Given the description of an element on the screen output the (x, y) to click on. 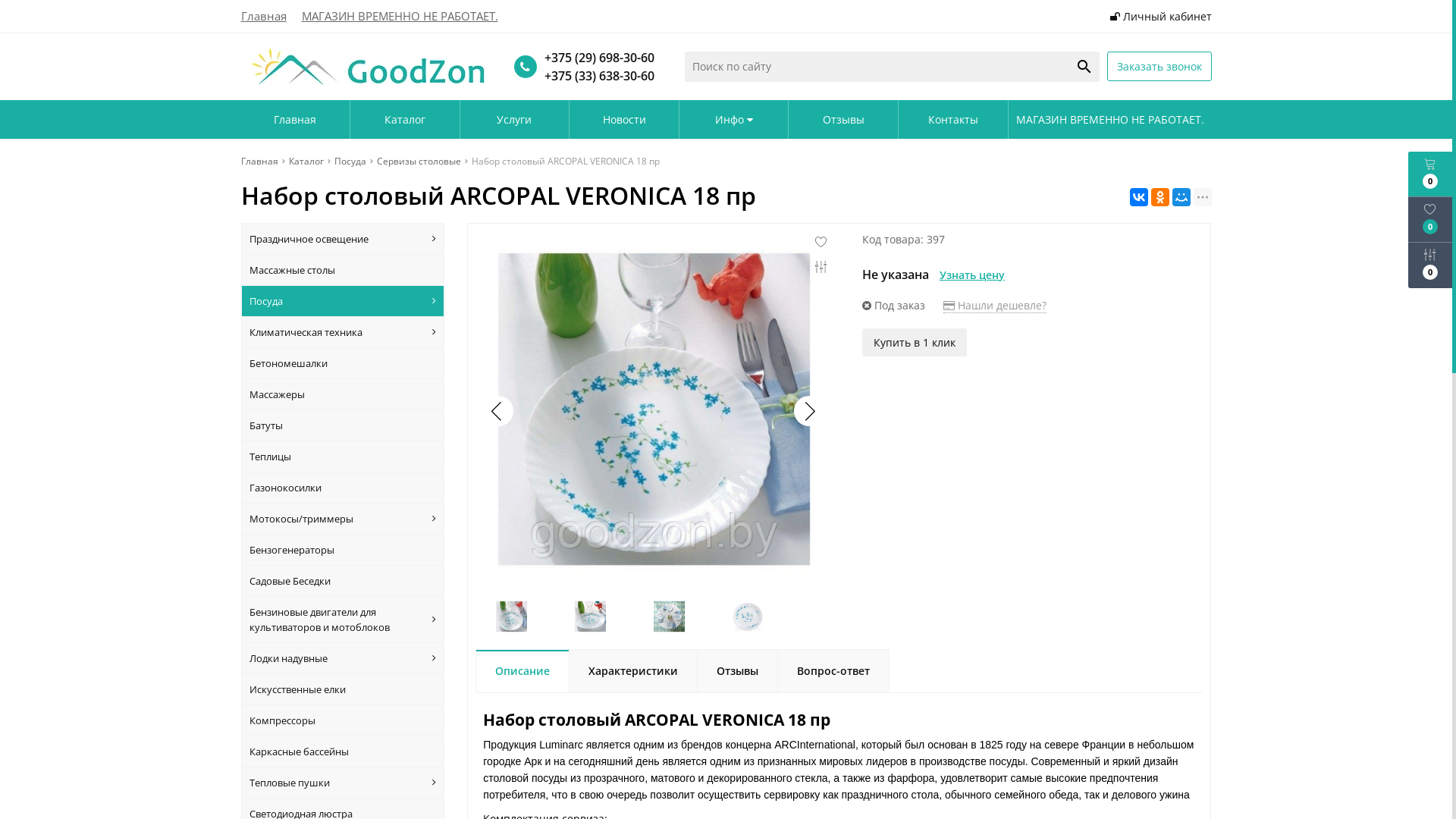
0 Element type: text (1430, 173)
0 Element type: text (1430, 265)
+375 (29) 698-30-60 Element type: text (595, 57)
search Element type: text (1084, 66)
0 Element type: text (1430, 219)
+375 (33) 638-30-60 Element type: text (595, 75)
